Given the description of an element on the screen output the (x, y) to click on. 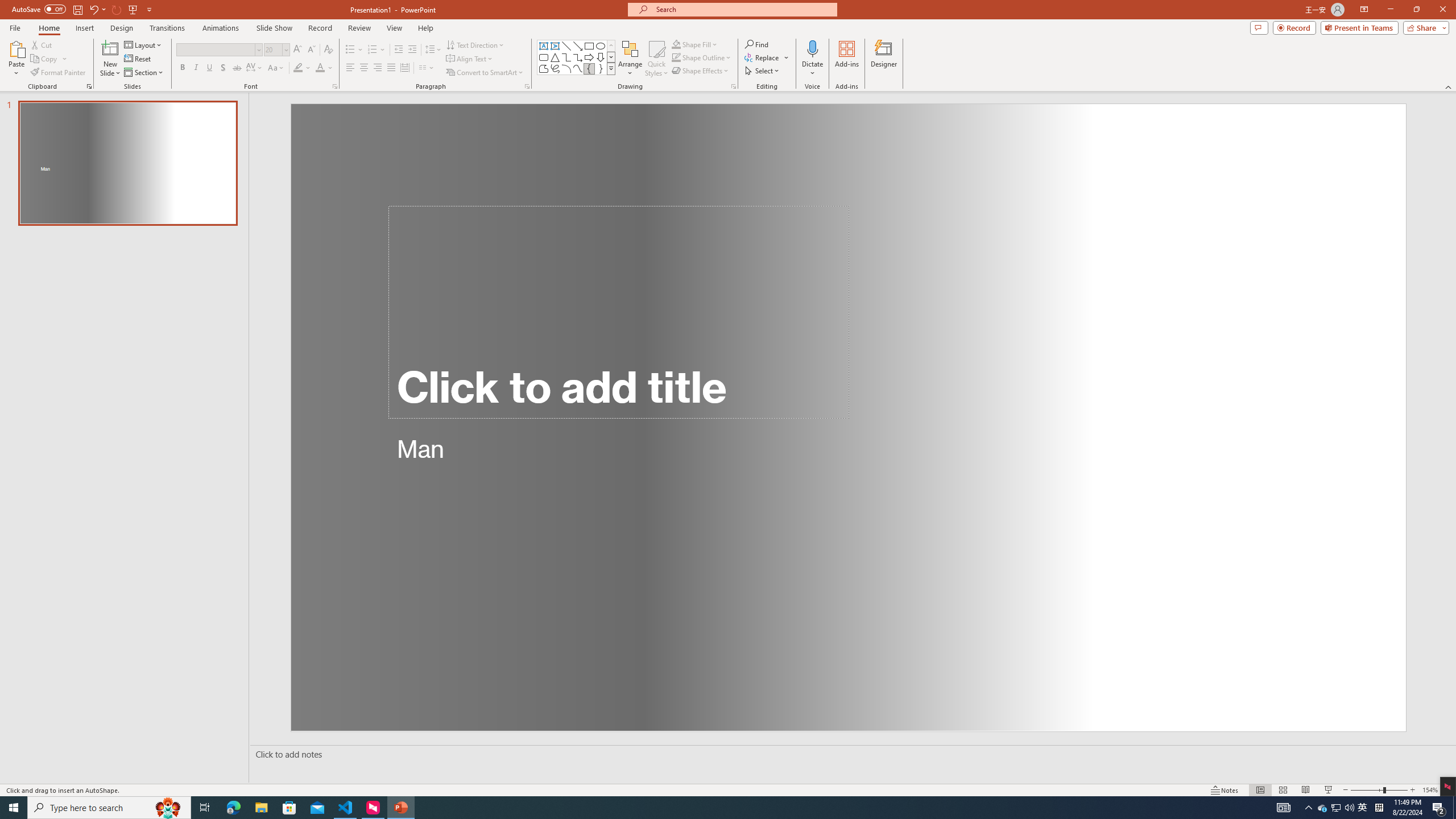
Align Right (377, 67)
Shape Fill Orange, Accent 2 (675, 44)
Connector: Elbow Arrow (577, 57)
Connector: Elbow (566, 57)
Cut (42, 44)
Freeform: Shape (543, 68)
Quick Styles (656, 58)
Isosceles Triangle (554, 57)
Vertical Text Box (554, 45)
